Given the description of an element on the screen output the (x, y) to click on. 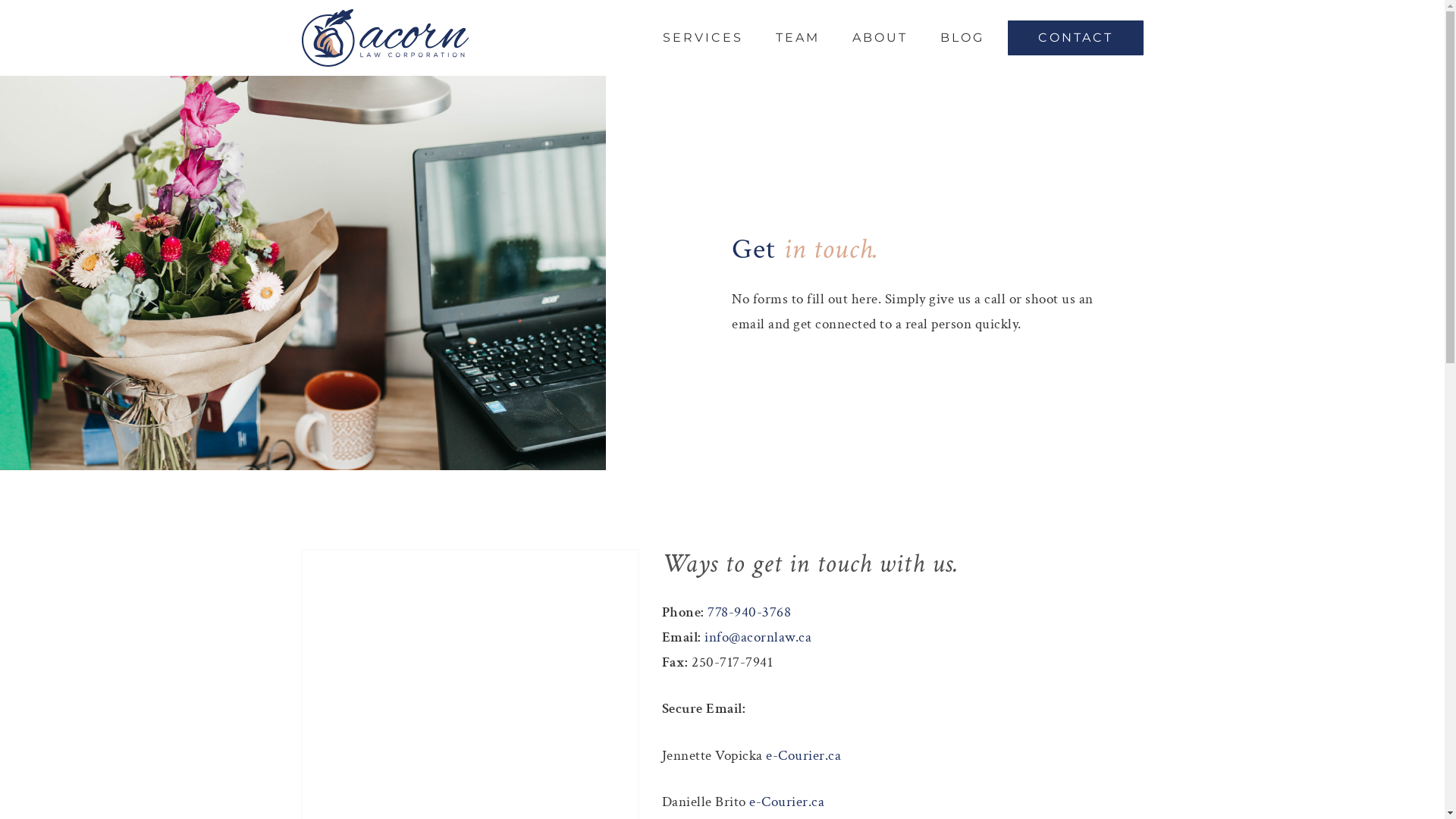
SERVICES Element type: text (702, 37)
Acorn Law Element type: hover (384, 37)
BLOG Element type: text (962, 37)
778-940-3768 Element type: text (748, 611)
ABOUT Element type: text (879, 37)
TEAM Element type: text (796, 37)
e-Courier.ca Element type: text (802, 755)
e-Courier.ca Element type: text (786, 801)
CONTACT Element type: text (1074, 37)
info@acornlaw.ca Element type: text (757, 636)
